Given the description of an element on the screen output the (x, y) to click on. 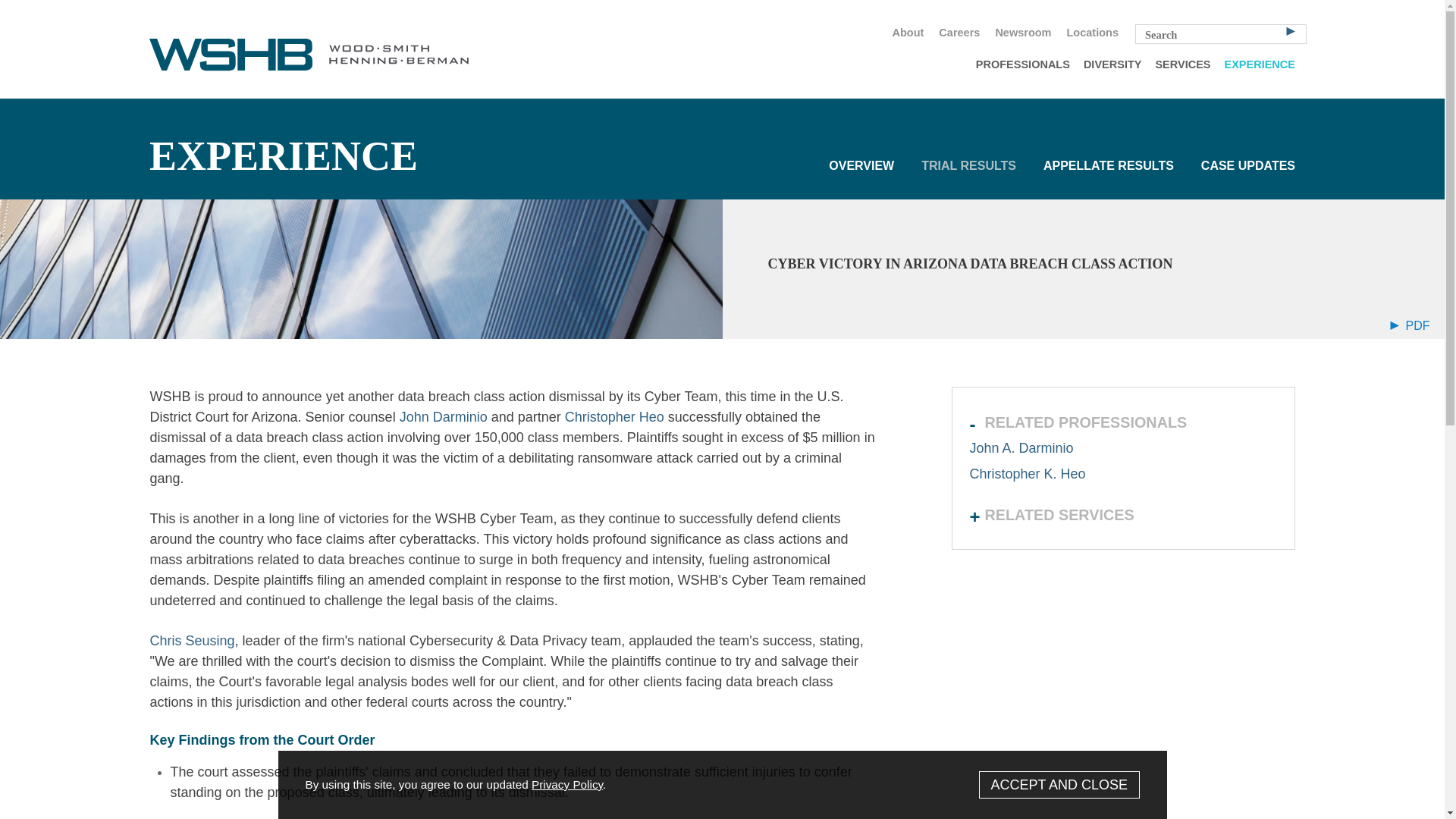
PROFESSIONALS (1023, 63)
Menu (676, 17)
About (907, 32)
EXPERIENCE (1259, 63)
Main Content (669, 17)
DIVERSITY (1112, 63)
Careers (959, 32)
SERVICES (1182, 63)
Arrow Icon (1290, 31)
Main Menu (676, 17)
